Given the description of an element on the screen output the (x, y) to click on. 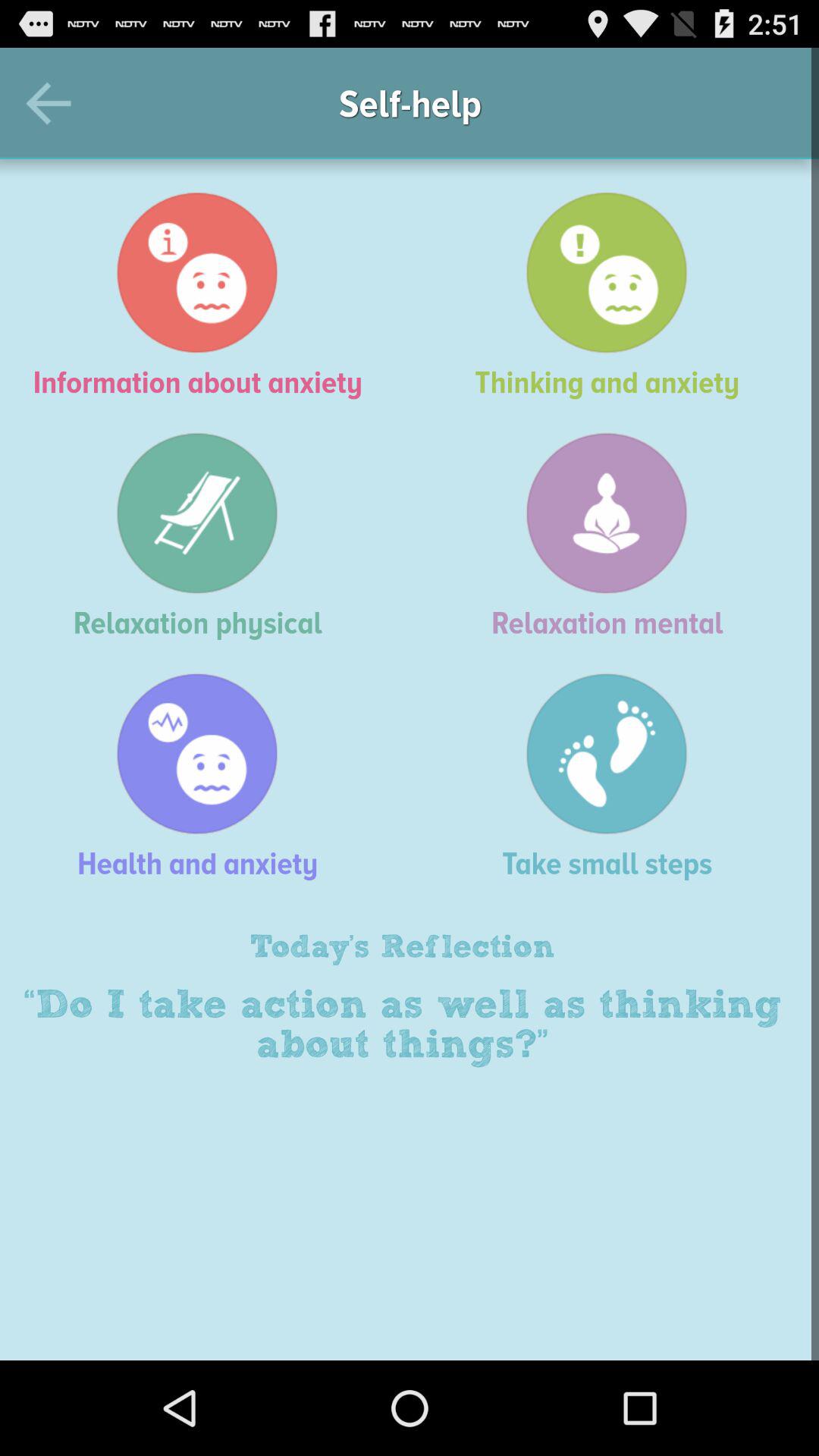
open item above the relaxation physical icon (204, 295)
